Given the description of an element on the screen output the (x, y) to click on. 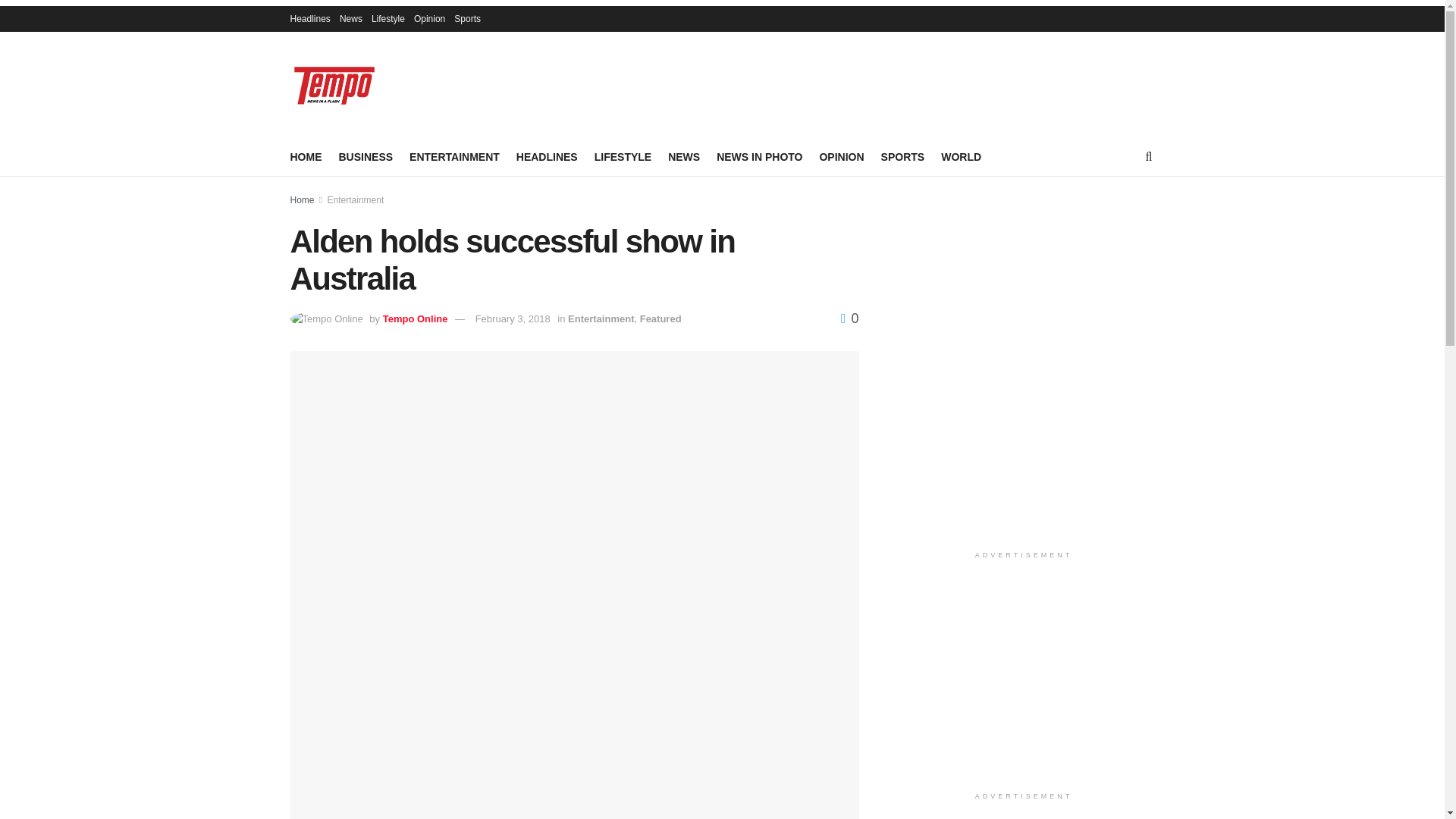
Opinion (429, 18)
Lifestyle (387, 18)
HOME (305, 156)
Sports (467, 18)
News (350, 18)
HEADLINES (547, 156)
NEWS (684, 156)
Headlines (309, 18)
ENTERTAINMENT (454, 156)
LIFESTYLE (622, 156)
BUSINESS (365, 156)
